Given the description of an element on the screen output the (x, y) to click on. 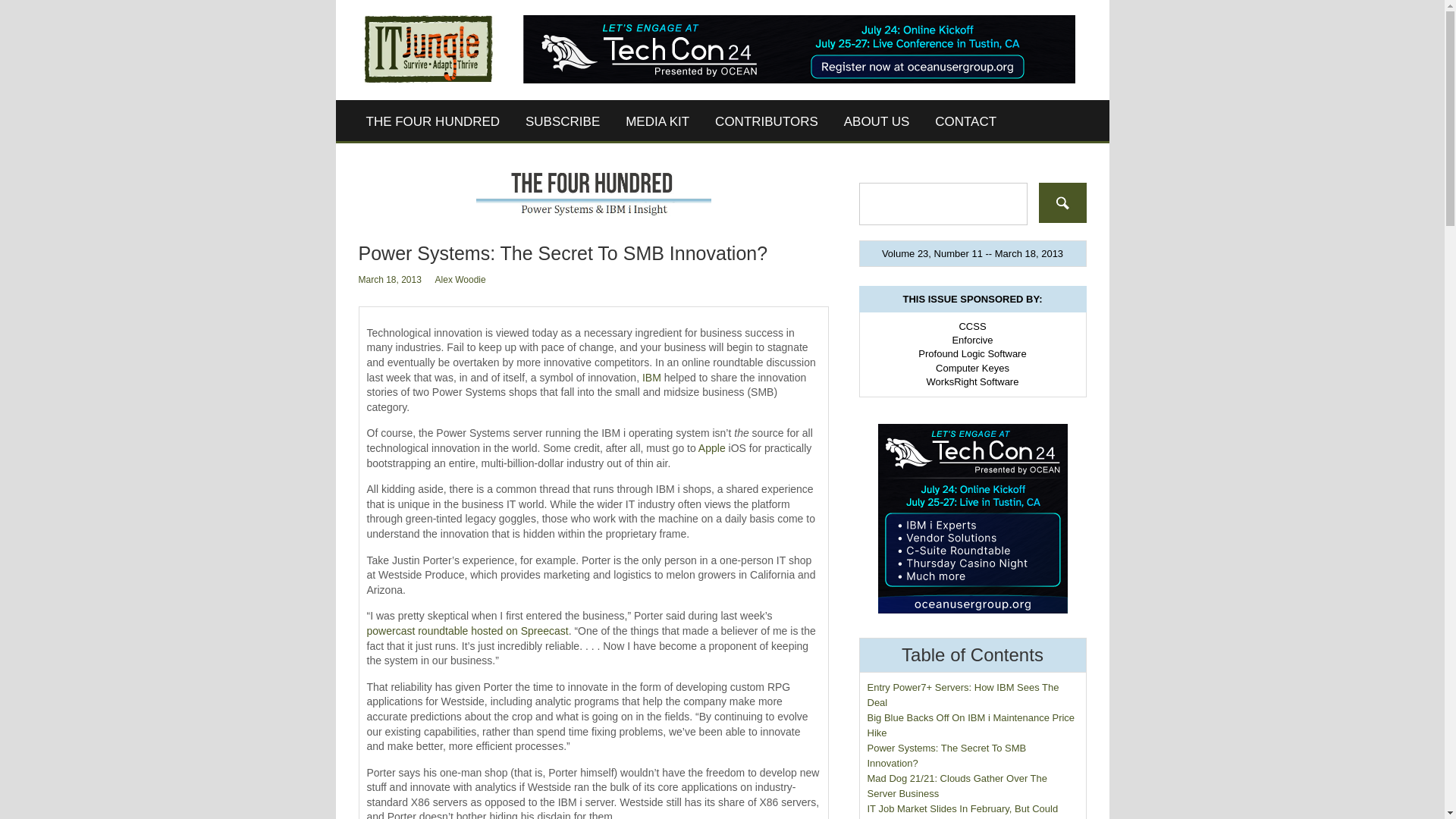
powercast roundtable hosted on Spreecast (467, 630)
ABOUT US (876, 121)
IBM (651, 377)
CONTRIBUTORS (766, 121)
CONTACT (965, 121)
MEDIA KIT (657, 121)
THE FOUR HUNDRED (433, 121)
Search (1062, 202)
Apple (711, 448)
SUBSCRIBE (562, 121)
